Given the description of an element on the screen output the (x, y) to click on. 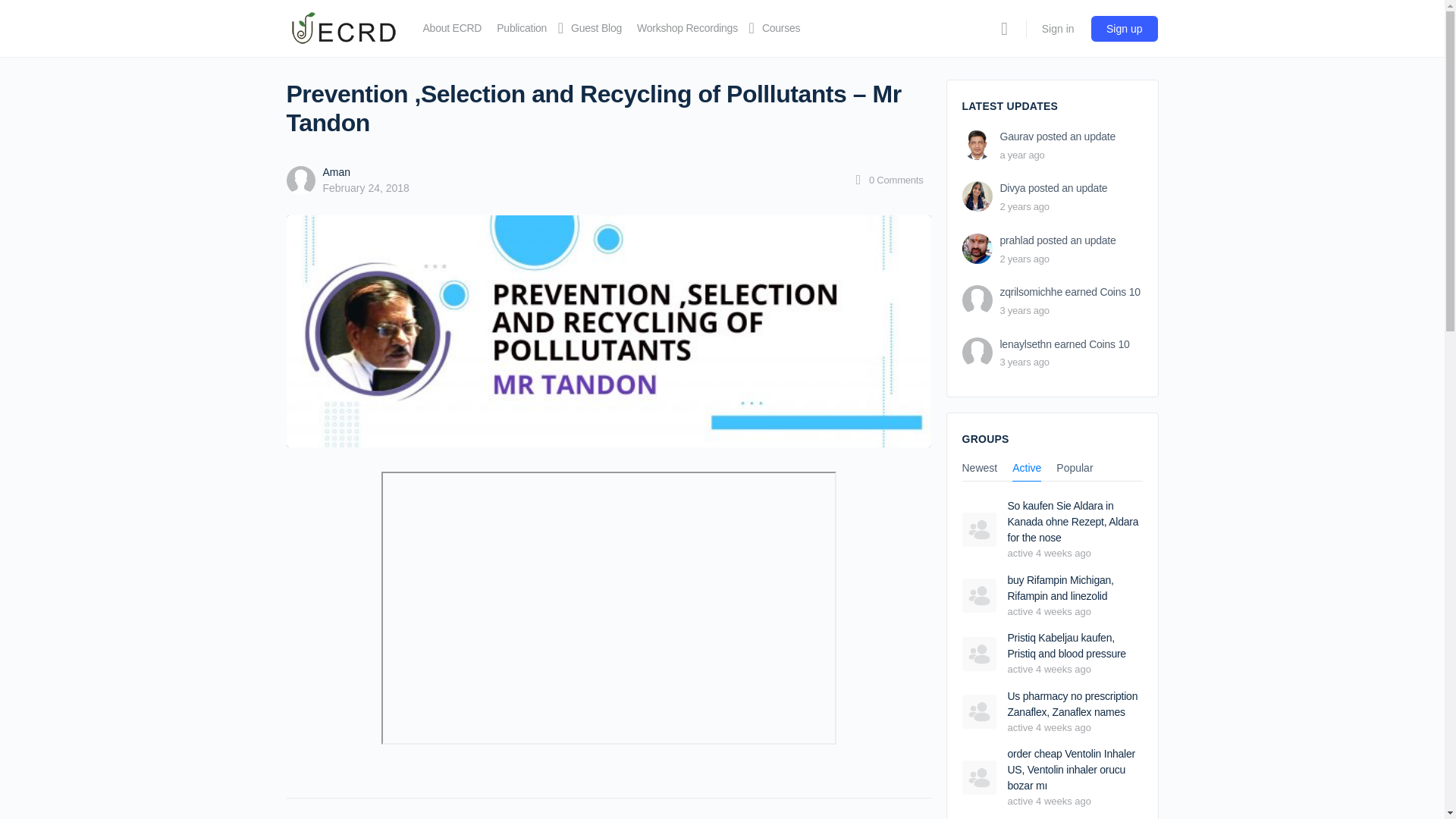
Workshop Recordings (687, 28)
Guest Blog (595, 28)
February 24, 2018 (366, 187)
Aman (336, 172)
0 Comments (887, 180)
About ECRD (452, 28)
YouTube video player (607, 607)
Sign in (1057, 27)
Sign up (1123, 28)
